Given the description of an element on the screen output the (x, y) to click on. 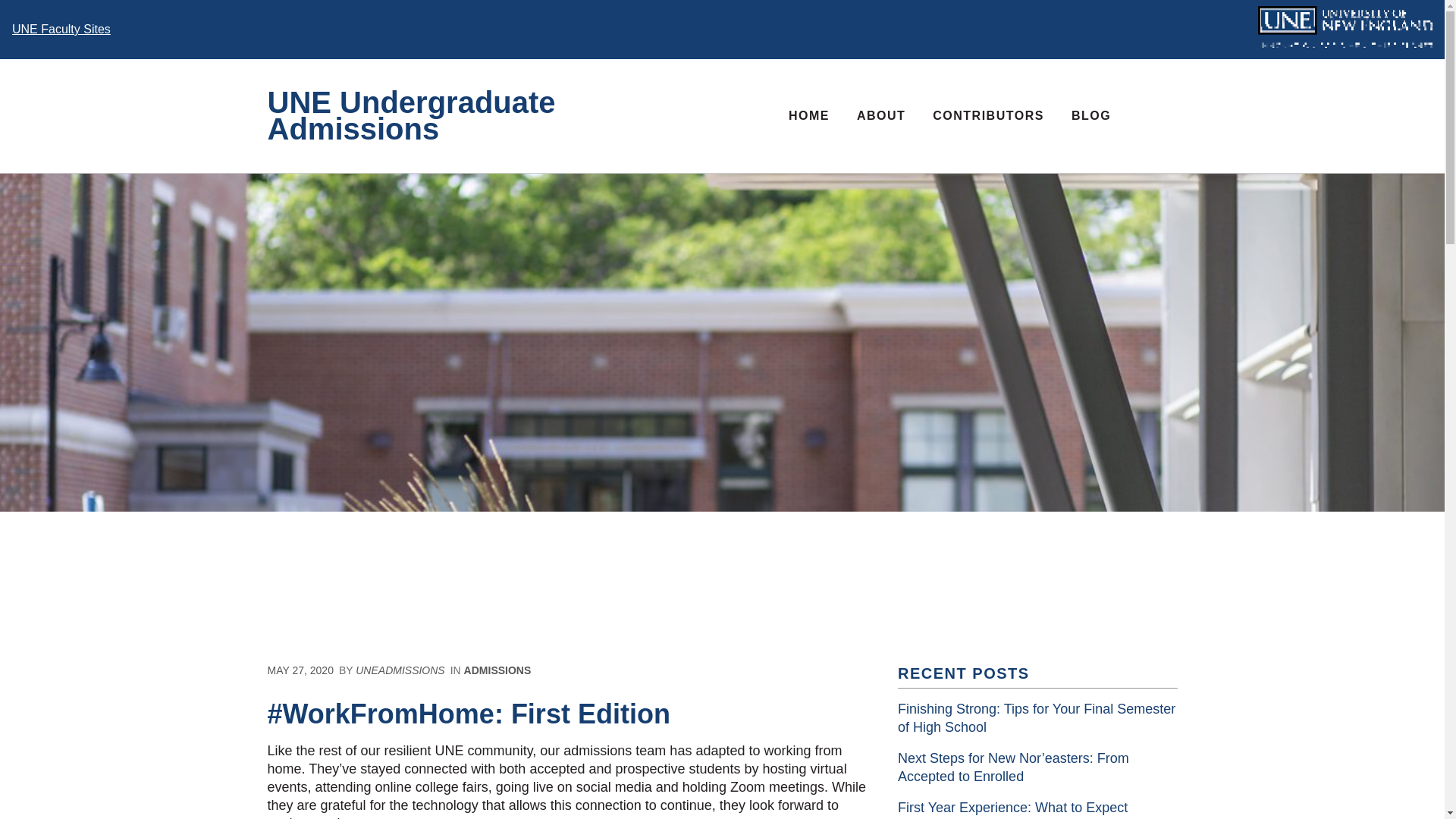
CONTRIBUTORS (988, 115)
BLOG (1091, 115)
UNE Undergraduate Admissions (494, 115)
ADMISSIONS (497, 670)
MAY 27, 2020 (301, 670)
UNEADMISSIONS (399, 670)
HOME (808, 115)
First Year Experience: What to Expect (1012, 807)
Back to UNE Faculty Sites (60, 29)
